Given the description of an element on the screen output the (x, y) to click on. 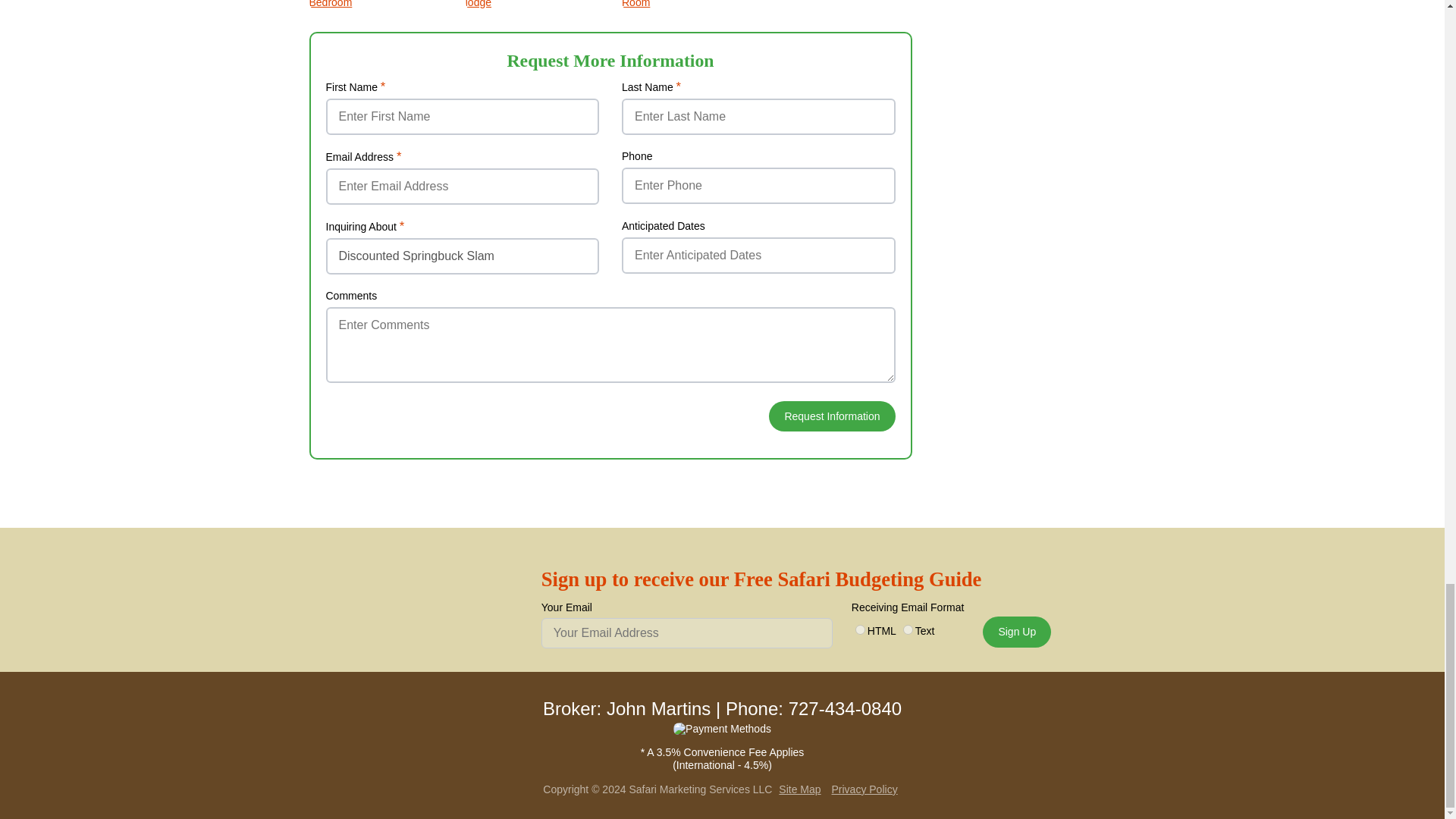
Springbok Slam Lodge Bedroom (375, 4)
View of Springbock slam lodge (531, 4)
Discounted Springbuck Slam (462, 256)
text (907, 629)
Springbok Slam Dining Room (688, 4)
html (860, 629)
